Given the description of an element on the screen output the (x, y) to click on. 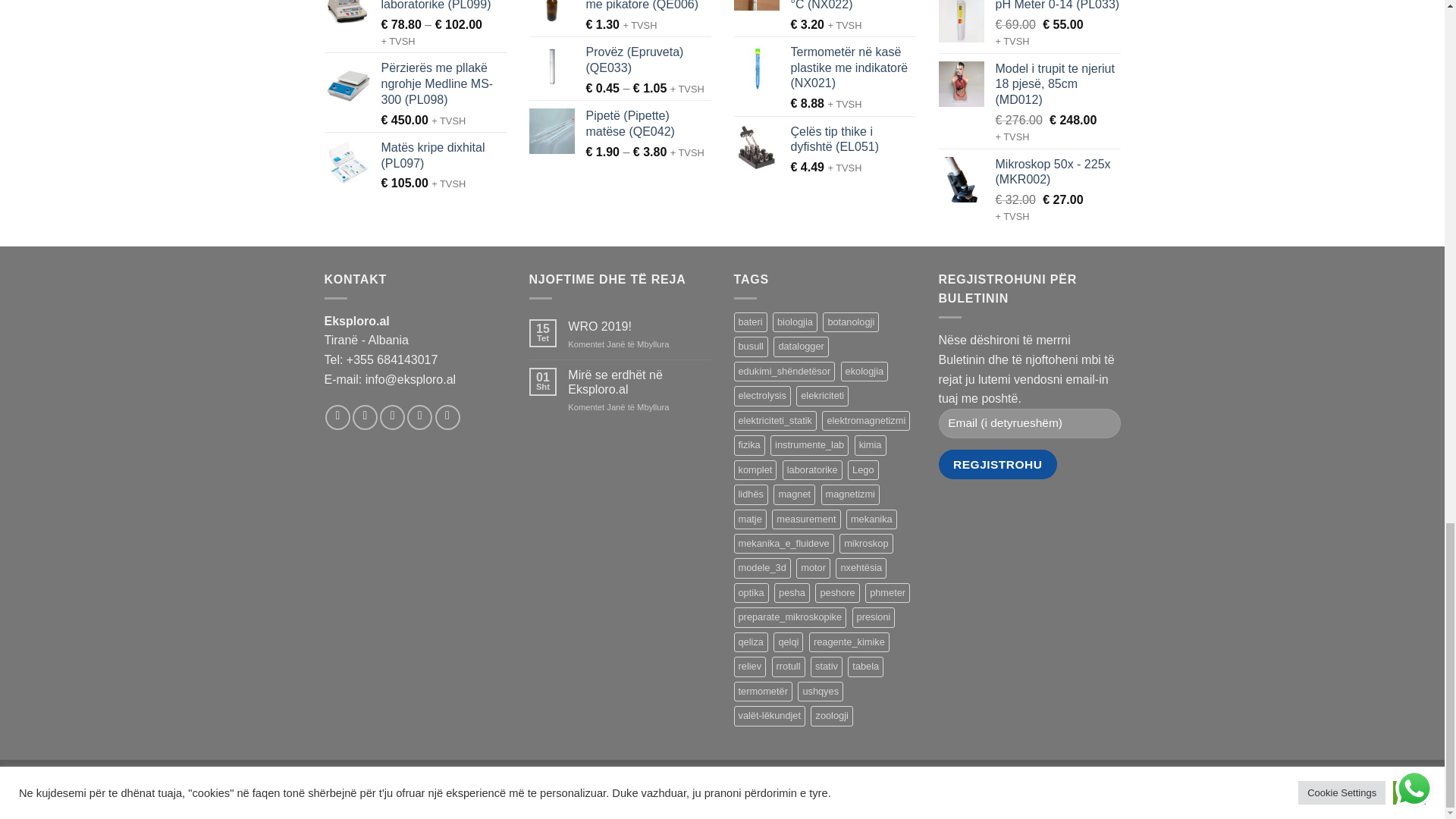
Regjistrohu (998, 464)
